Given the description of an element on the screen output the (x, y) to click on. 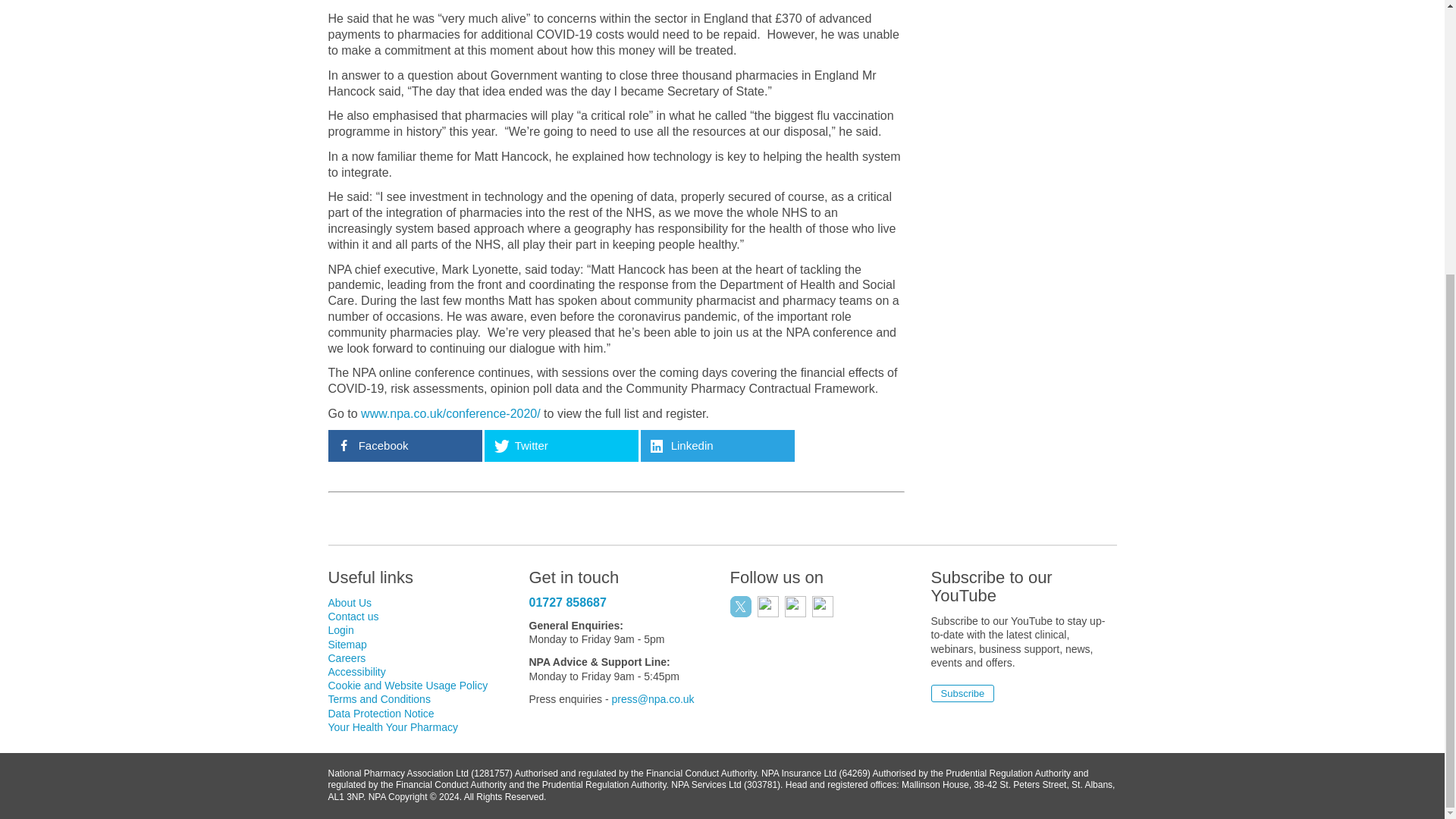
Login (340, 630)
Cookie and Website Usage Policy (407, 685)
Twitter (560, 445)
Your Health Your Pharmacy (392, 727)
About Us (349, 603)
Sitemap (346, 644)
Terms and Conditions (378, 698)
Facebook (404, 445)
Accessibility (356, 671)
Linkedin (716, 445)
01727 858687 (568, 602)
Careers (346, 657)
Data Protection Notice (380, 713)
Contact us (352, 616)
